Given the description of an element on the screen output the (x, y) to click on. 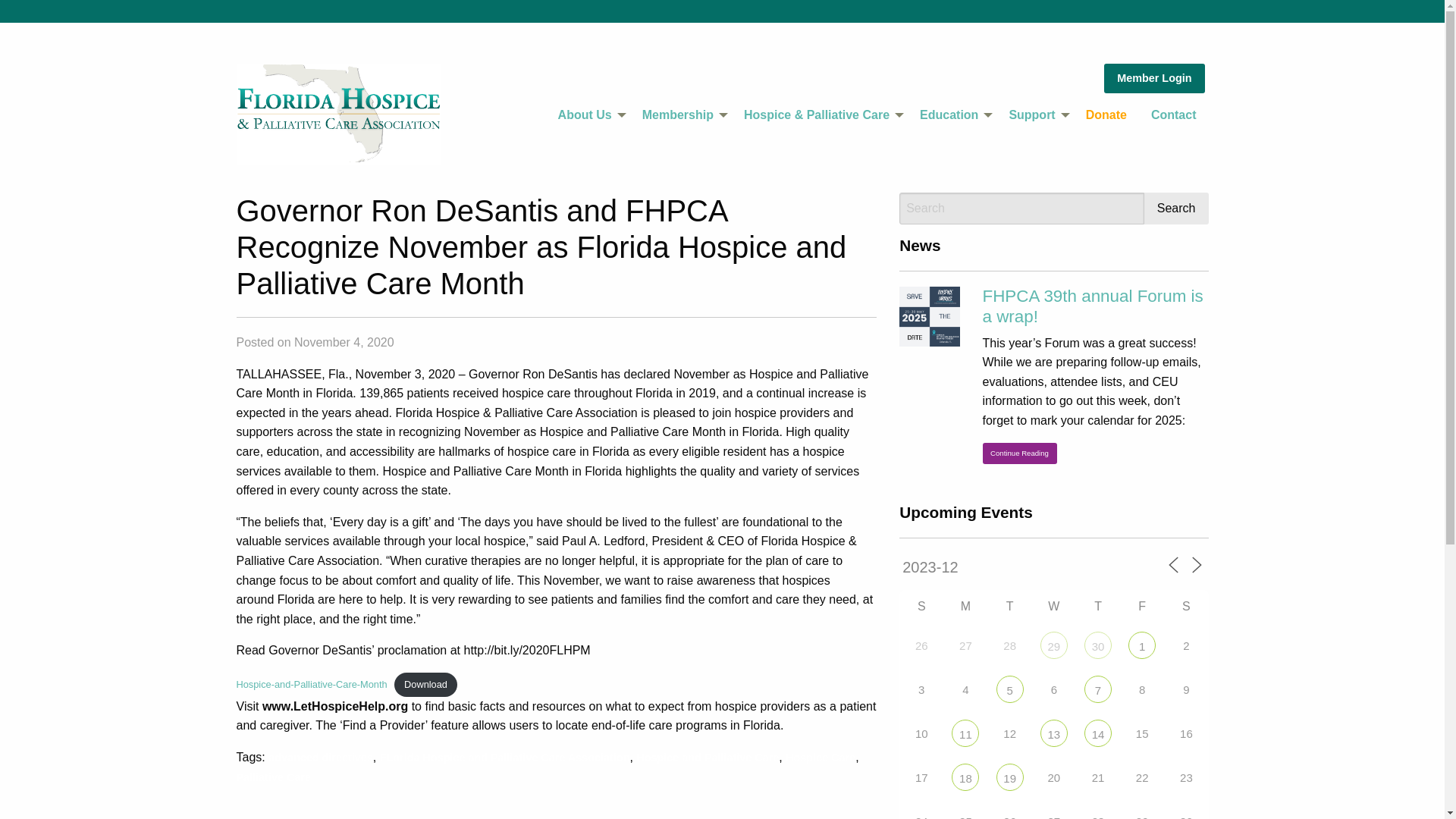
Everything New Owners Need to Know When Purchasing an Agency (1141, 645)
About Us (588, 114)
Membership (681, 114)
Member Login (1153, 77)
Search (1176, 208)
Education (951, 114)
2023-12 (976, 567)
Hospice Medical Review in a Medicare-Certified World (1009, 689)
Support (1034, 114)
11 Tools to Build Up Your Hospital-Based Business (1053, 645)
FHPCA 39th annual Forum is a wrap! (1093, 305)
Avoiding the Top 10 Hospice Compliance Mistakes (1009, 776)
